Given the description of an element on the screen output the (x, y) to click on. 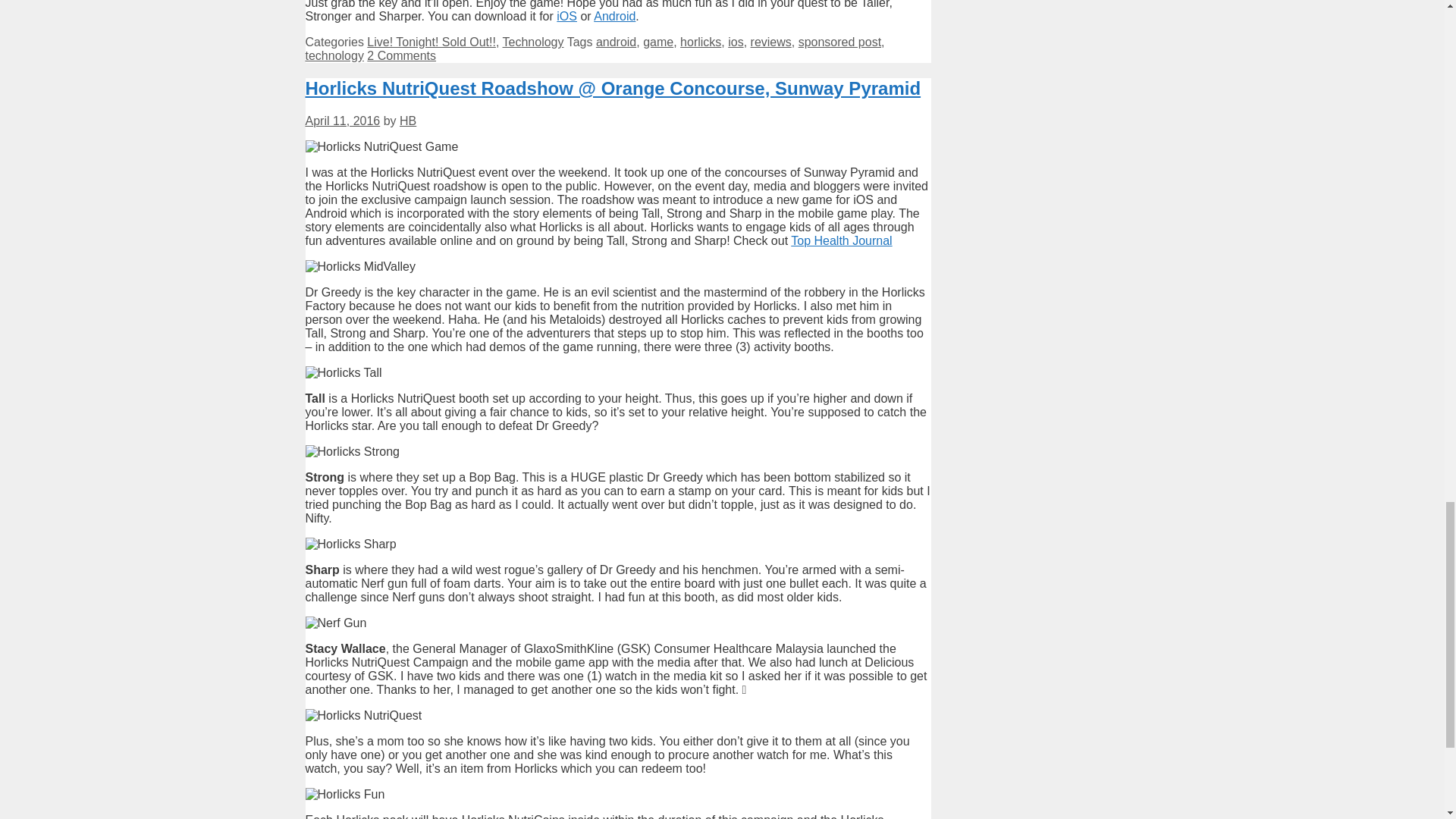
horlicks (699, 42)
Android (614, 15)
Top Health Journal (840, 240)
reviews (771, 42)
HB (407, 120)
Live! Tonight! Sold Out!! (431, 42)
android (615, 42)
ios (735, 42)
sponsored post (838, 42)
technology (333, 55)
Technology (533, 42)
game (657, 42)
April 11, 2016 (342, 120)
iOS (566, 15)
2 Comments (400, 55)
